Given the description of an element on the screen output the (x, y) to click on. 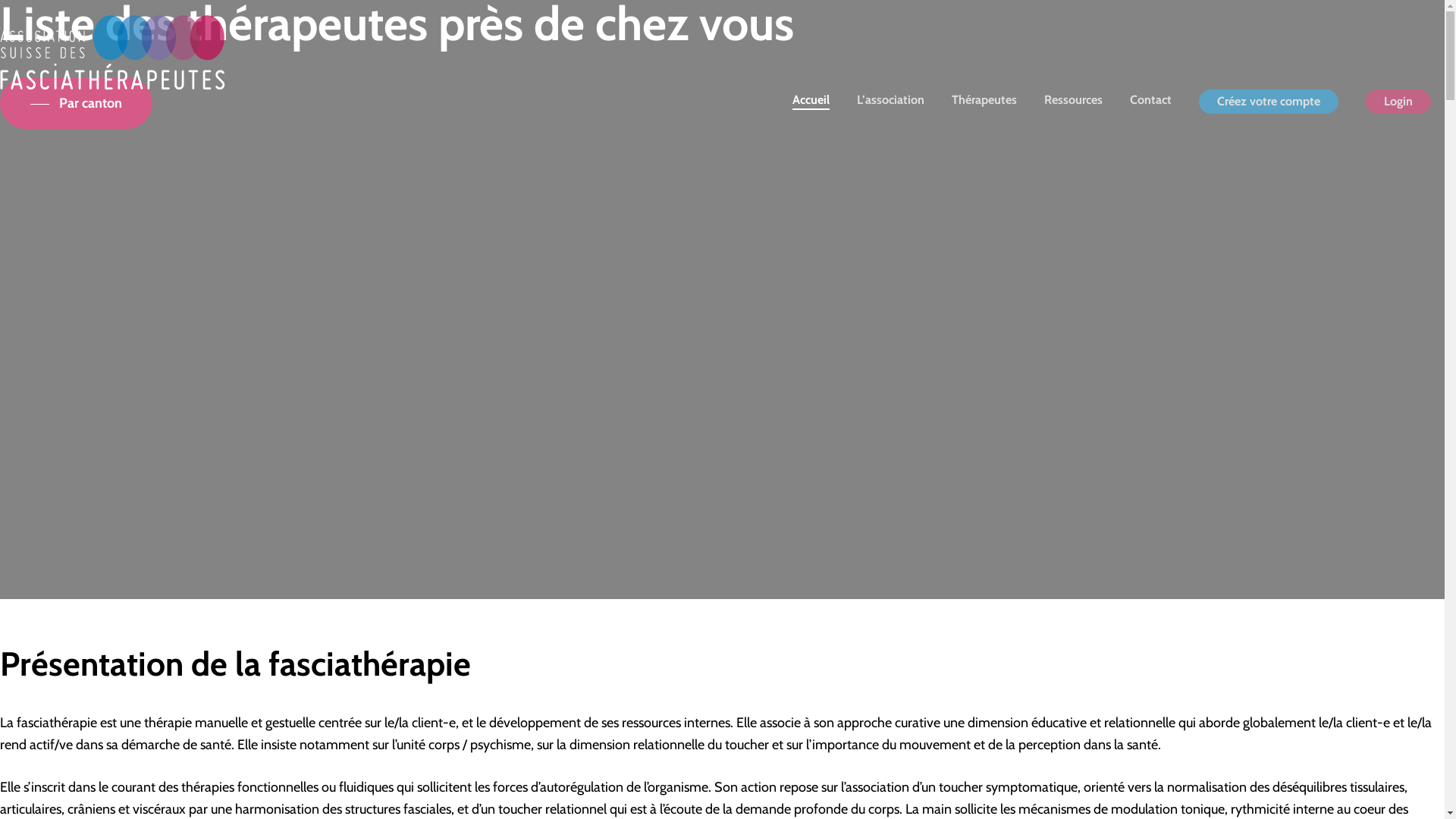
Login Element type: text (1397, 101)
Ressources Element type: text (1073, 101)
Association ASfascia Element type: text (58, 99)
Contact Element type: text (1150, 101)
Par canton Element type: text (76, 102)
Accueil Element type: text (810, 101)
